Given the description of an element on the screen output the (x, y) to click on. 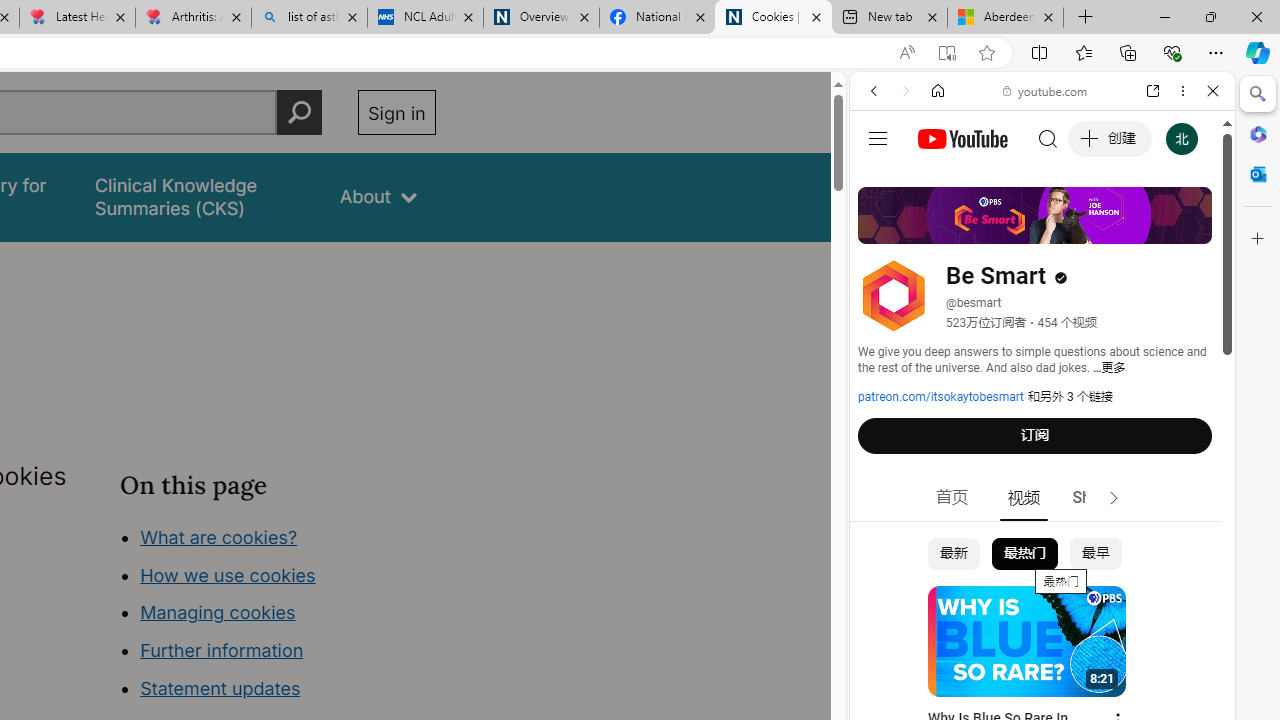
youtube.com (1046, 90)
Perform search (299, 112)
How we use cookies (227, 574)
Further information (221, 650)
Managing cookies (217, 612)
SEARCH TOOLS (1093, 228)
